Given the description of an element on the screen output the (x, y) to click on. 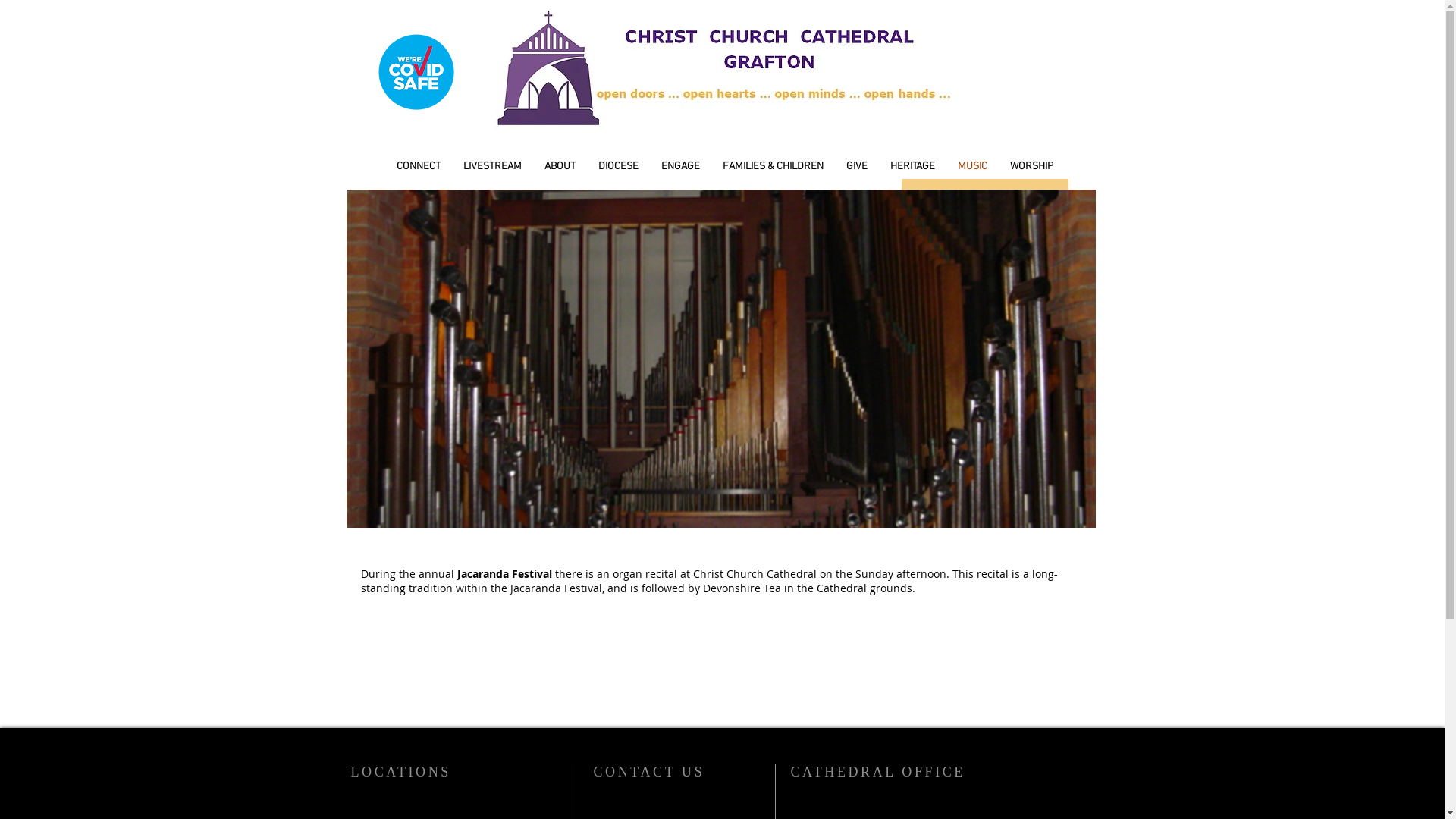
ABOUT Element type: text (559, 166)
WORSHIP Element type: text (1031, 166)
MUSIC Element type: text (972, 166)
LIVESTREAM Element type: text (492, 166)
ENGAGE Element type: text (680, 166)
Make your financial gift here Element type: text (983, 195)
FAMILIES & CHILDREN Element type: text (772, 166)
CONNECT Element type: text (418, 166)
HERITAGE Element type: text (912, 166)
GIVE Element type: text (856, 166)
DIOCESE Element type: text (617, 166)
